Given the description of an element on the screen output the (x, y) to click on. 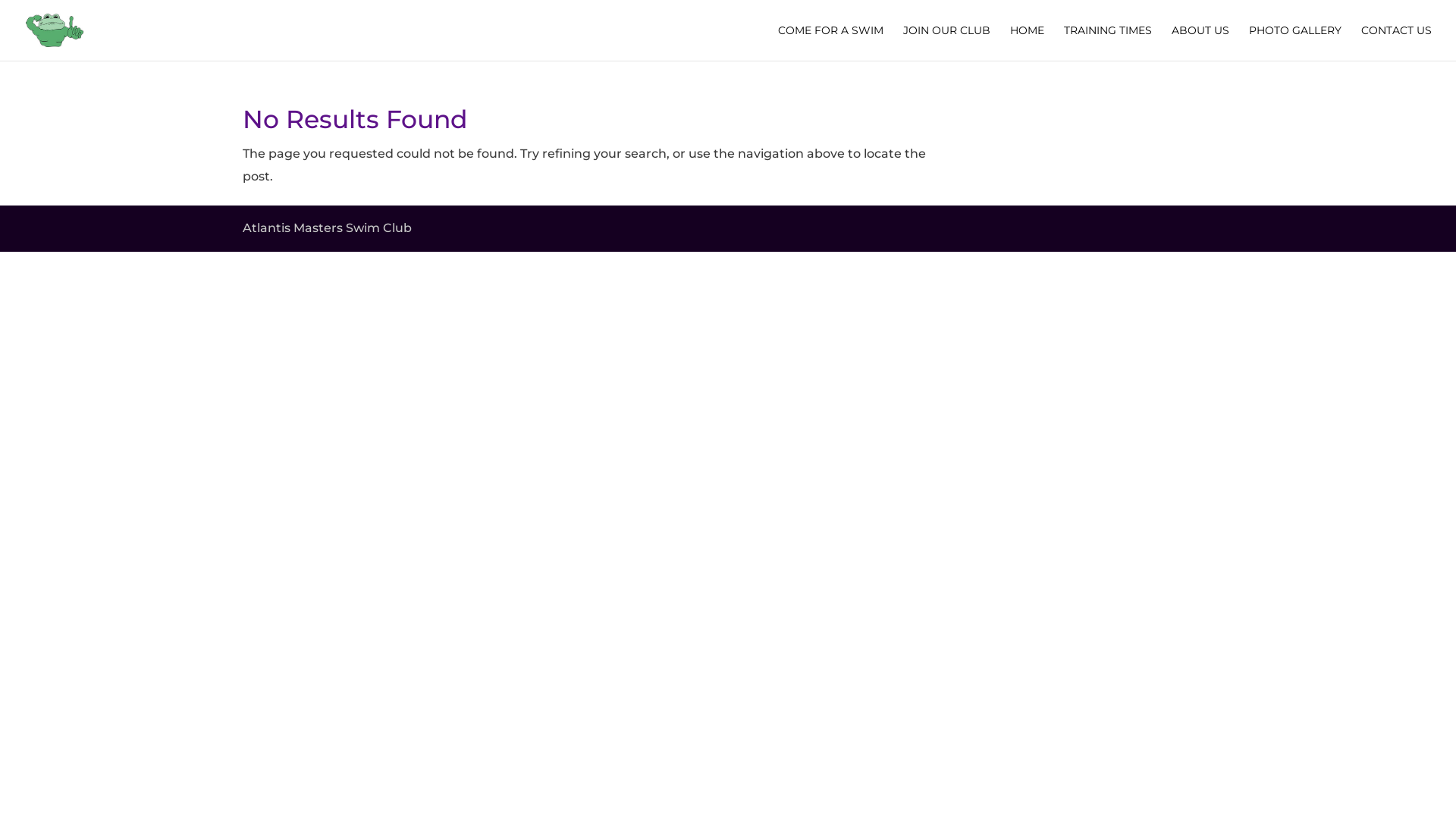
JOIN OUR CLUB Element type: text (946, 42)
CONTACT US Element type: text (1396, 42)
PHOTO GALLERY Element type: text (1294, 42)
TRAINING TIMES Element type: text (1107, 42)
ABOUT US Element type: text (1200, 42)
COME FOR A SWIM Element type: text (830, 42)
HOME Element type: text (1027, 42)
